Given the description of an element on the screen output the (x, y) to click on. 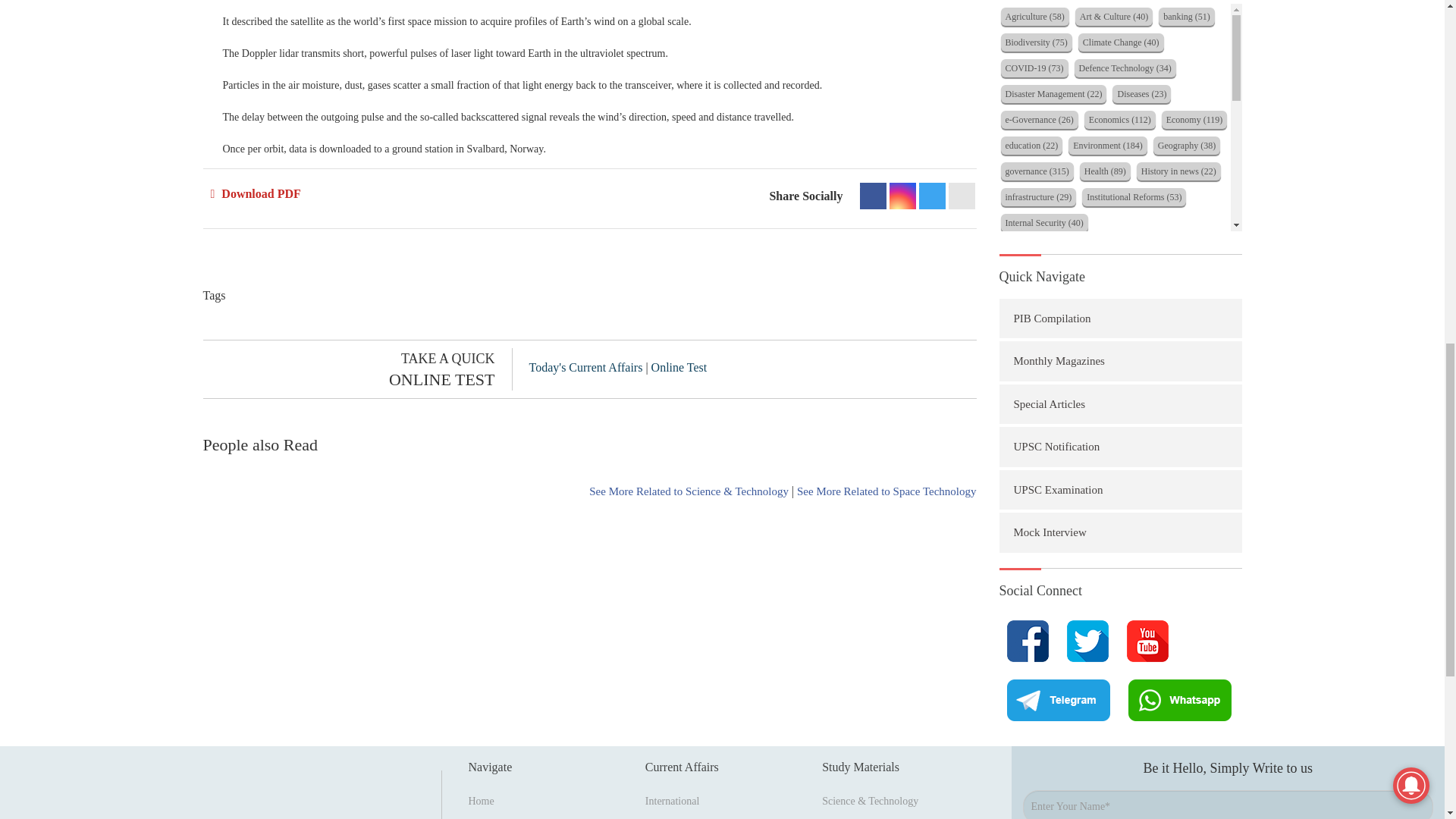
Telegram (931, 195)
Instagram (901, 195)
Google Gmail (960, 195)
Facebook (873, 195)
